Given the description of an element on the screen output the (x, y) to click on. 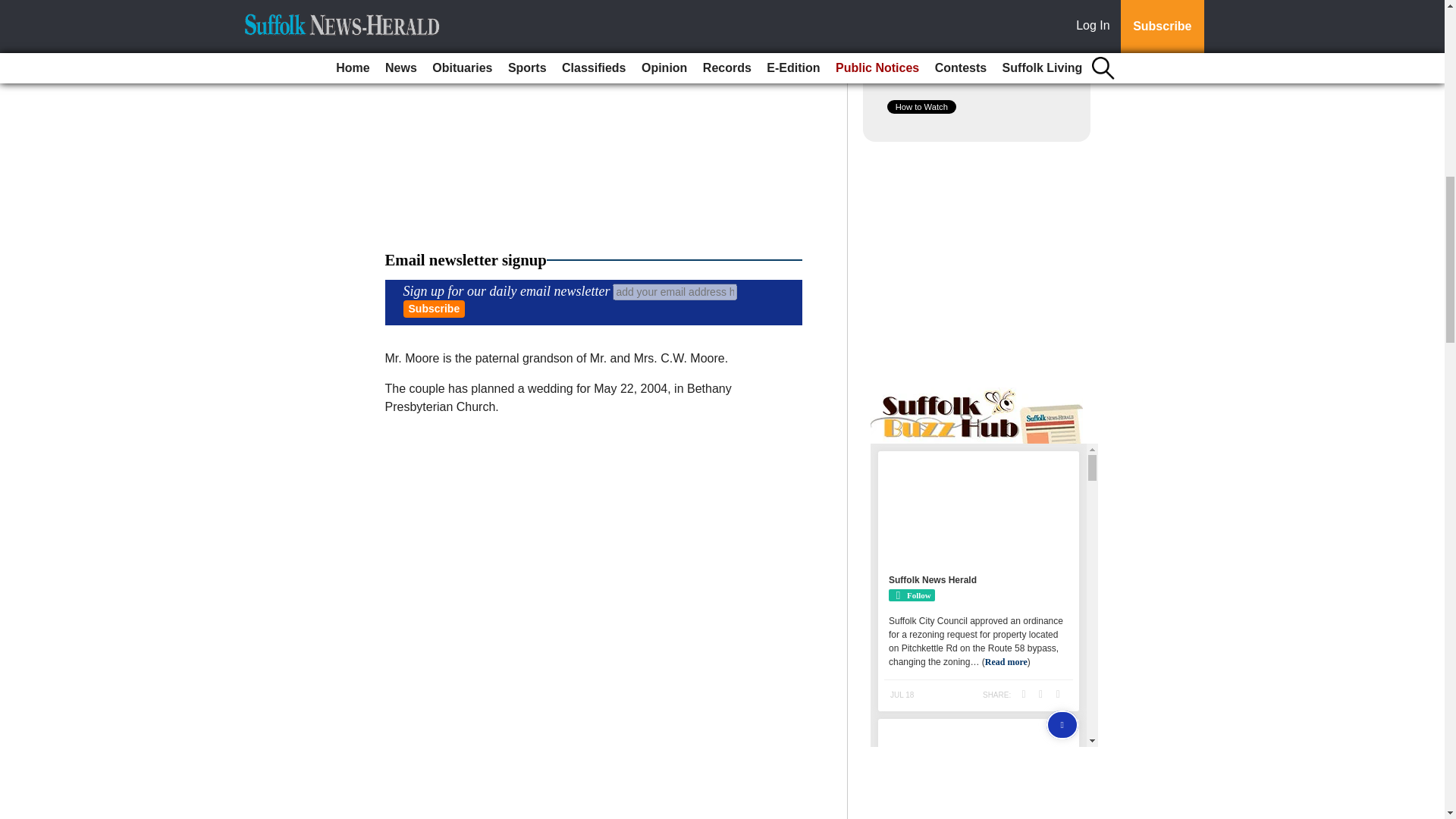
How to Watch (921, 106)
Subscribe (434, 308)
Subscribe (434, 308)
